Given the description of an element on the screen output the (x, y) to click on. 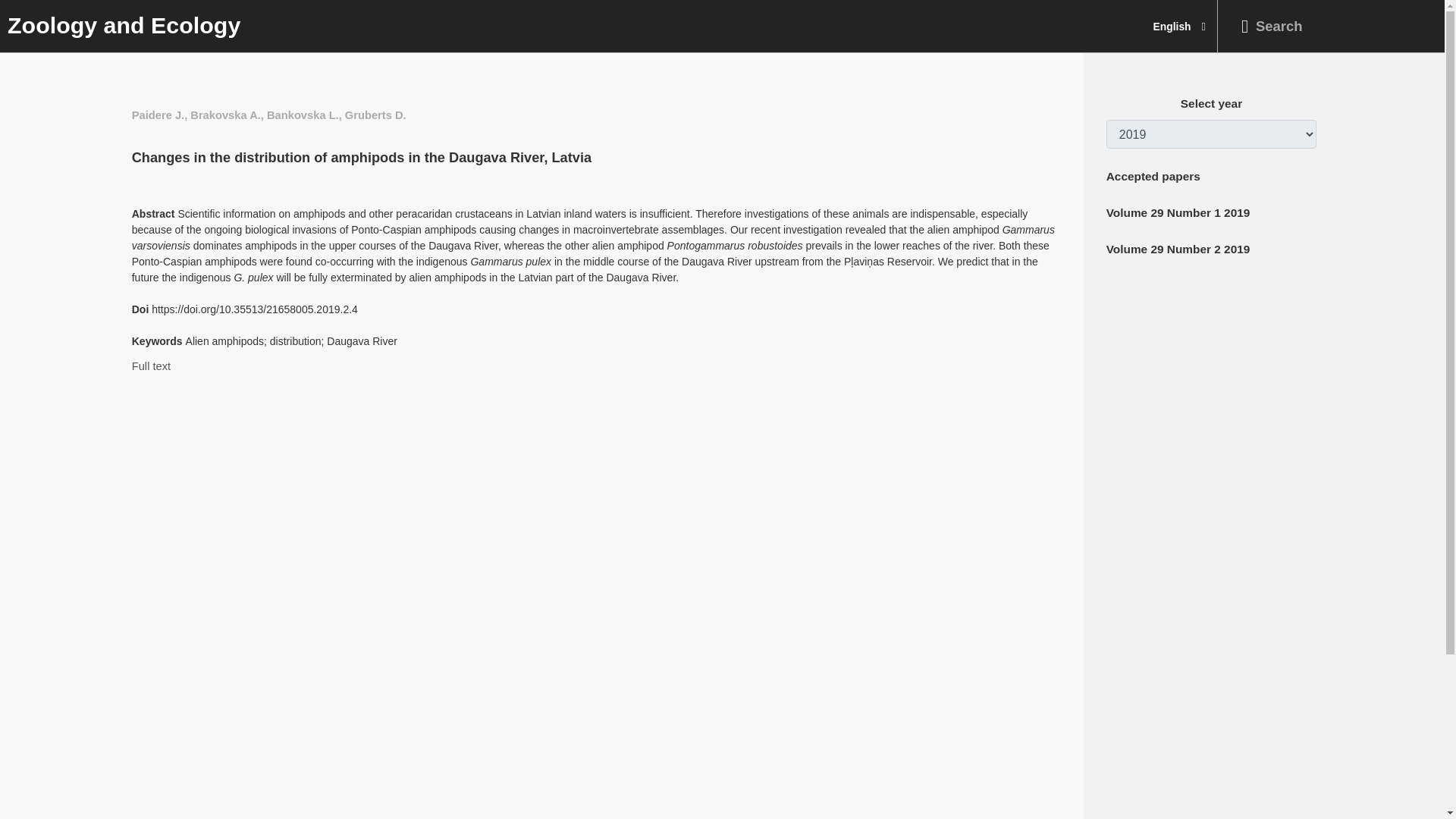
Volume 29 Number 2 2019 (1178, 249)
English (1179, 26)
Zoology and Ecology (120, 26)
Full text (151, 366)
Accepted papers (1152, 176)
Volume 29 Number 1 2019 (1178, 212)
